Given the description of an element on the screen output the (x, y) to click on. 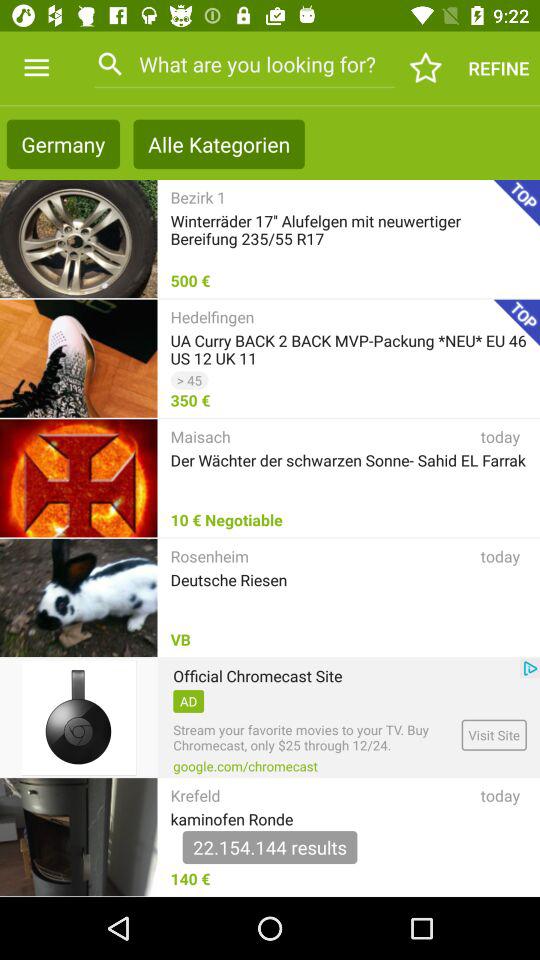
press the icon next to refine item (425, 67)
